Given the description of an element on the screen output the (x, y) to click on. 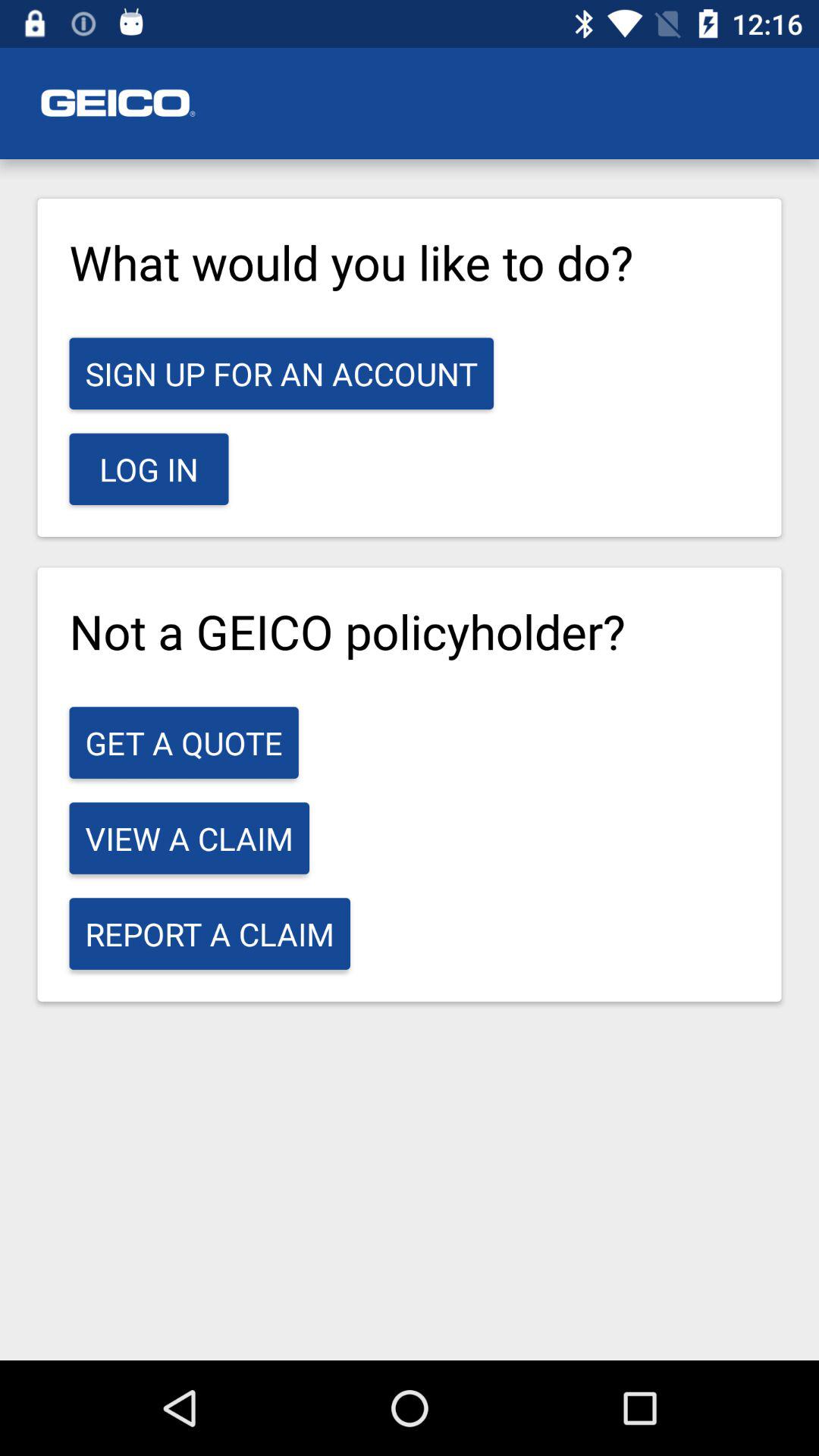
choose log in icon (148, 468)
